Given the description of an element on the screen output the (x, y) to click on. 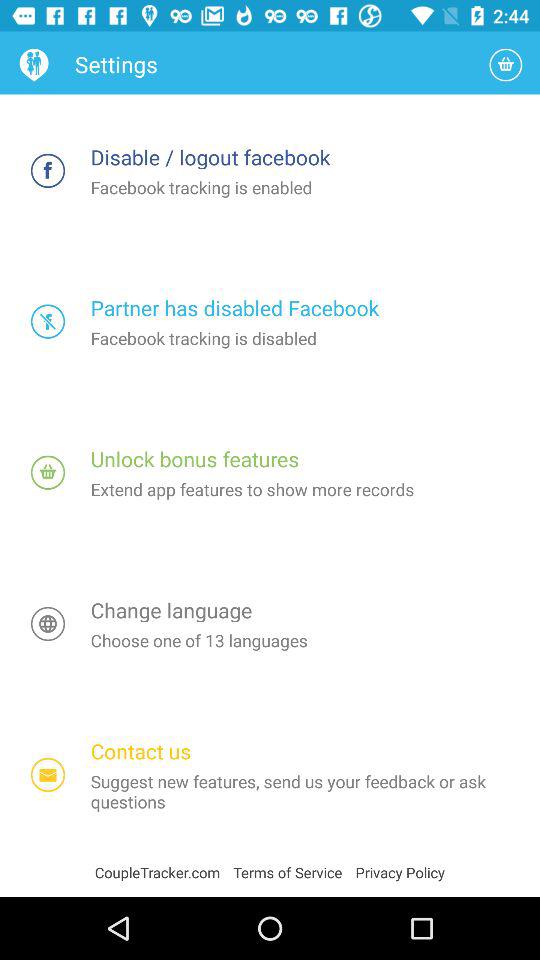
contact developer (47, 774)
